Given the description of an element on the screen output the (x, y) to click on. 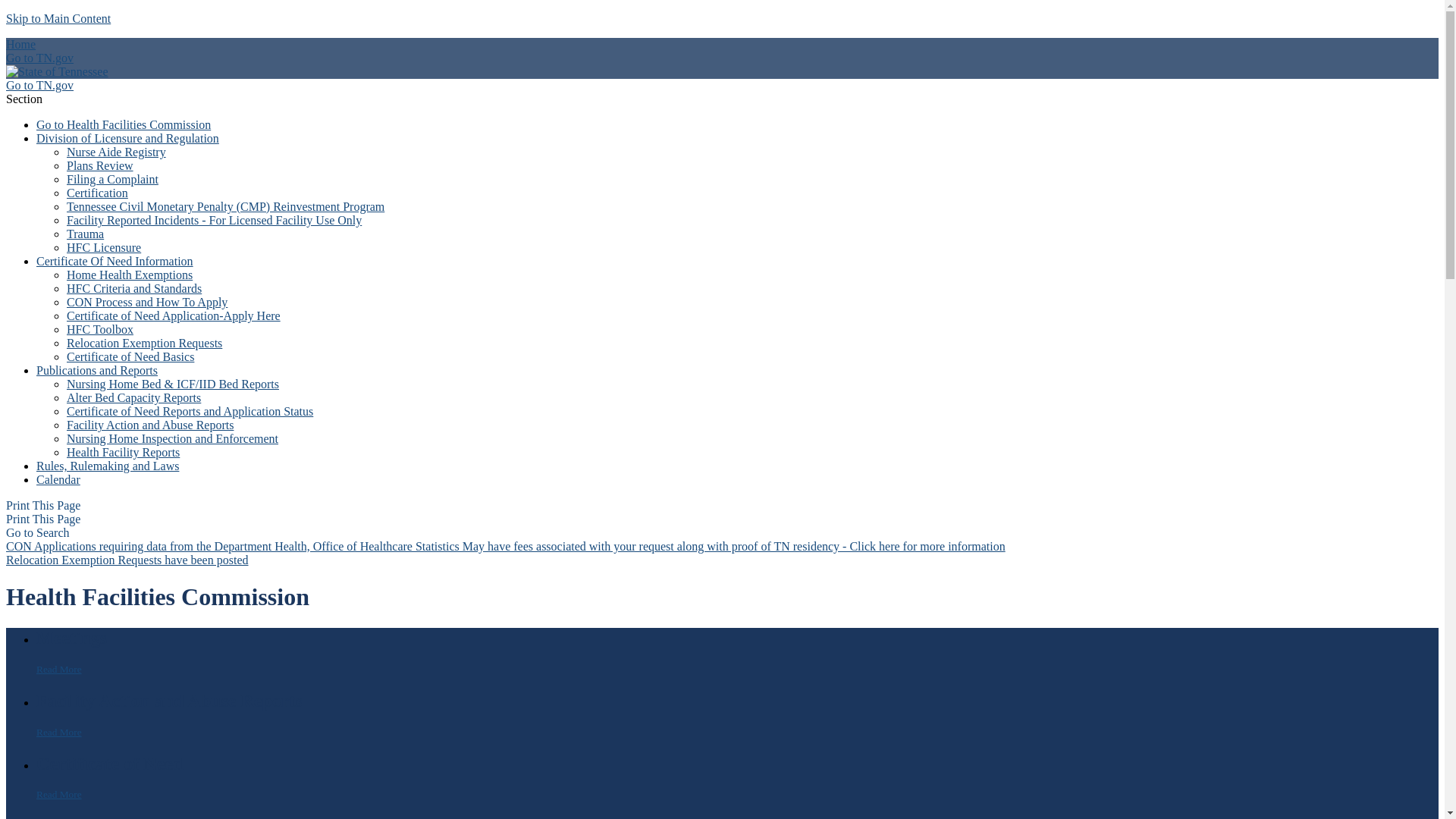
Facility Reported Incidents - For Licensed Facility Use Only (213, 219)
Calendar (58, 479)
Print This Page (42, 504)
Alter Bed Capacity Reports (133, 397)
Skip to Main Content (57, 18)
Read More (58, 668)
Print This Page (42, 518)
CON Process and How To Apply (146, 301)
Filing a Complaint (112, 178)
Nurse Aide Registry (115, 151)
